Given the description of an element on the screen output the (x, y) to click on. 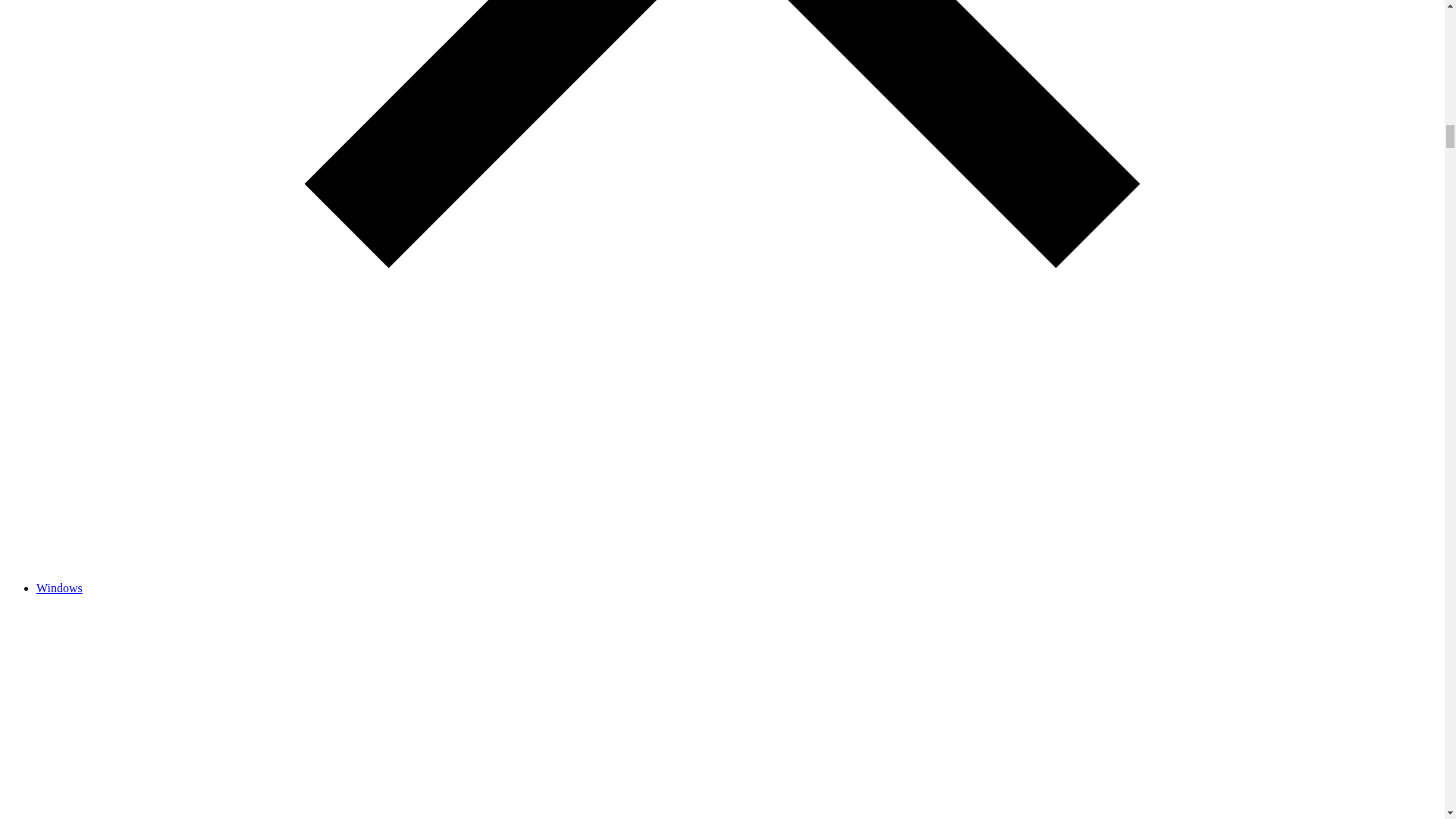
Windows (59, 587)
